Given the description of an element on the screen output the (x, y) to click on. 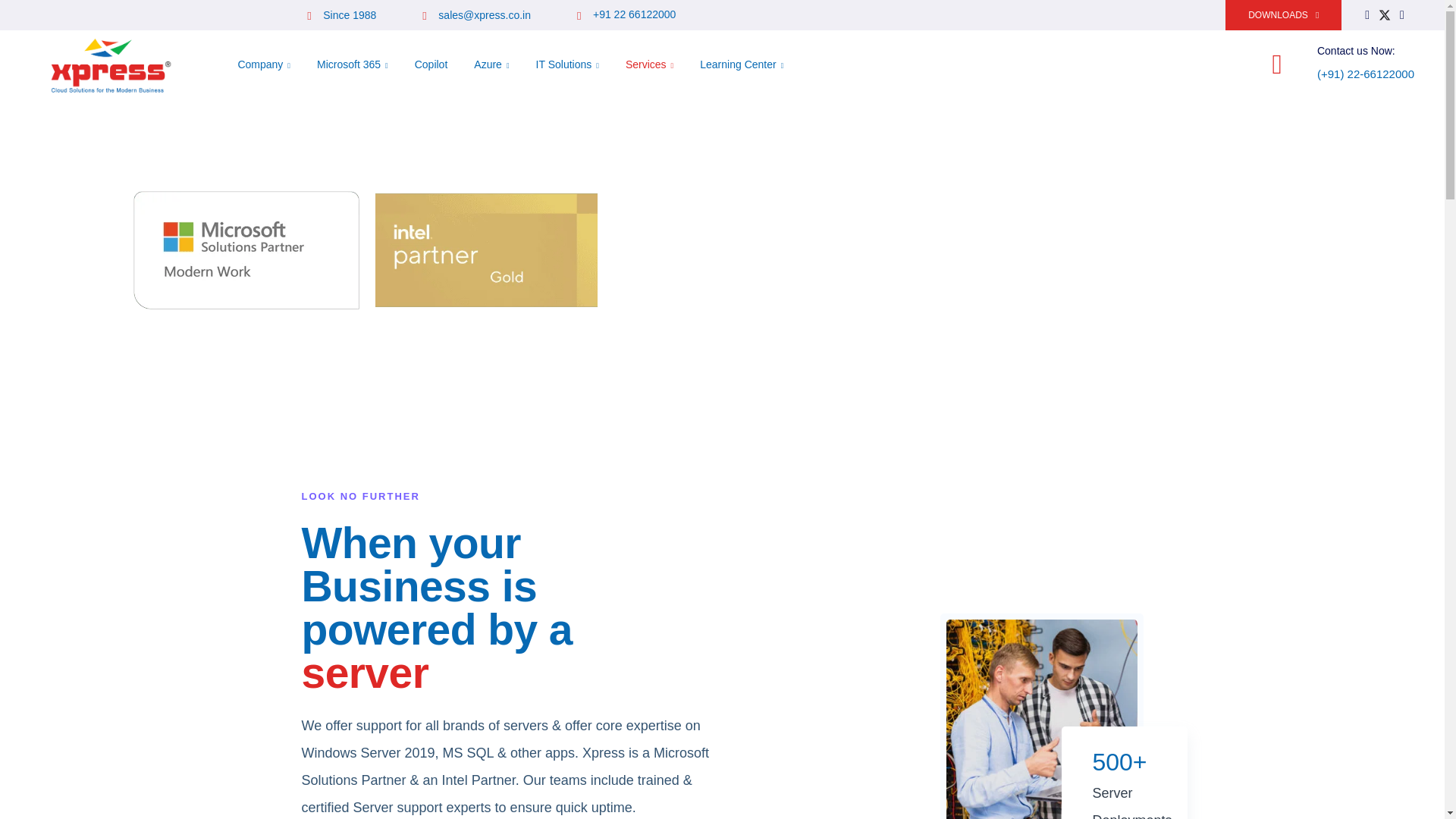
IT Solutions (566, 64)
image-10 (1088, 748)
DOWNLOADS (1282, 15)
Since 1988 (341, 14)
Microsoft 365 (352, 64)
image-9 (1041, 719)
Learning Center (741, 64)
